Given the description of an element on the screen output the (x, y) to click on. 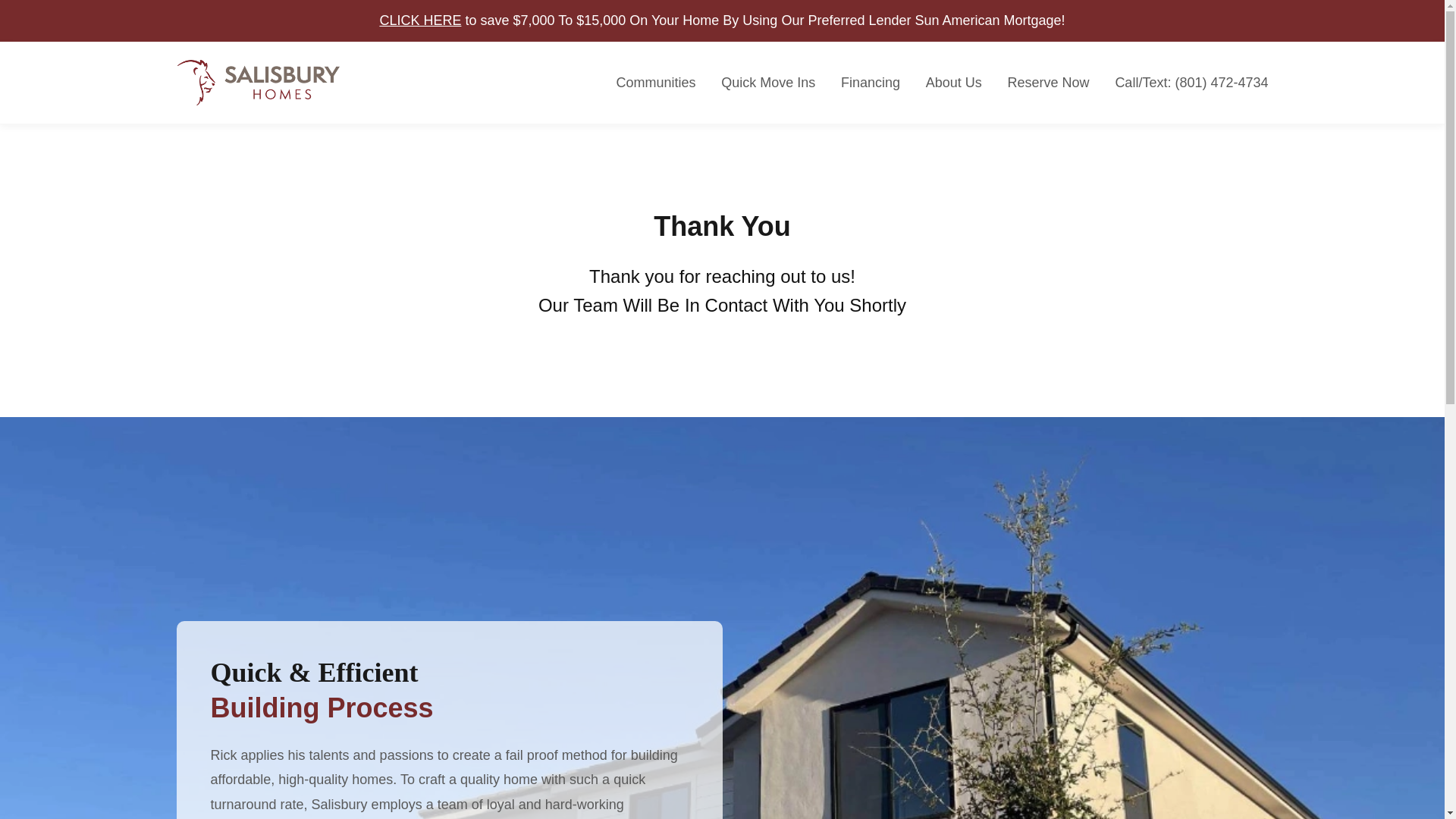
Quick Move Ins (767, 82)
Financing (870, 82)
Communities (655, 82)
About Us (953, 82)
Reserve Now (1048, 82)
